Given the description of an element on the screen output the (x, y) to click on. 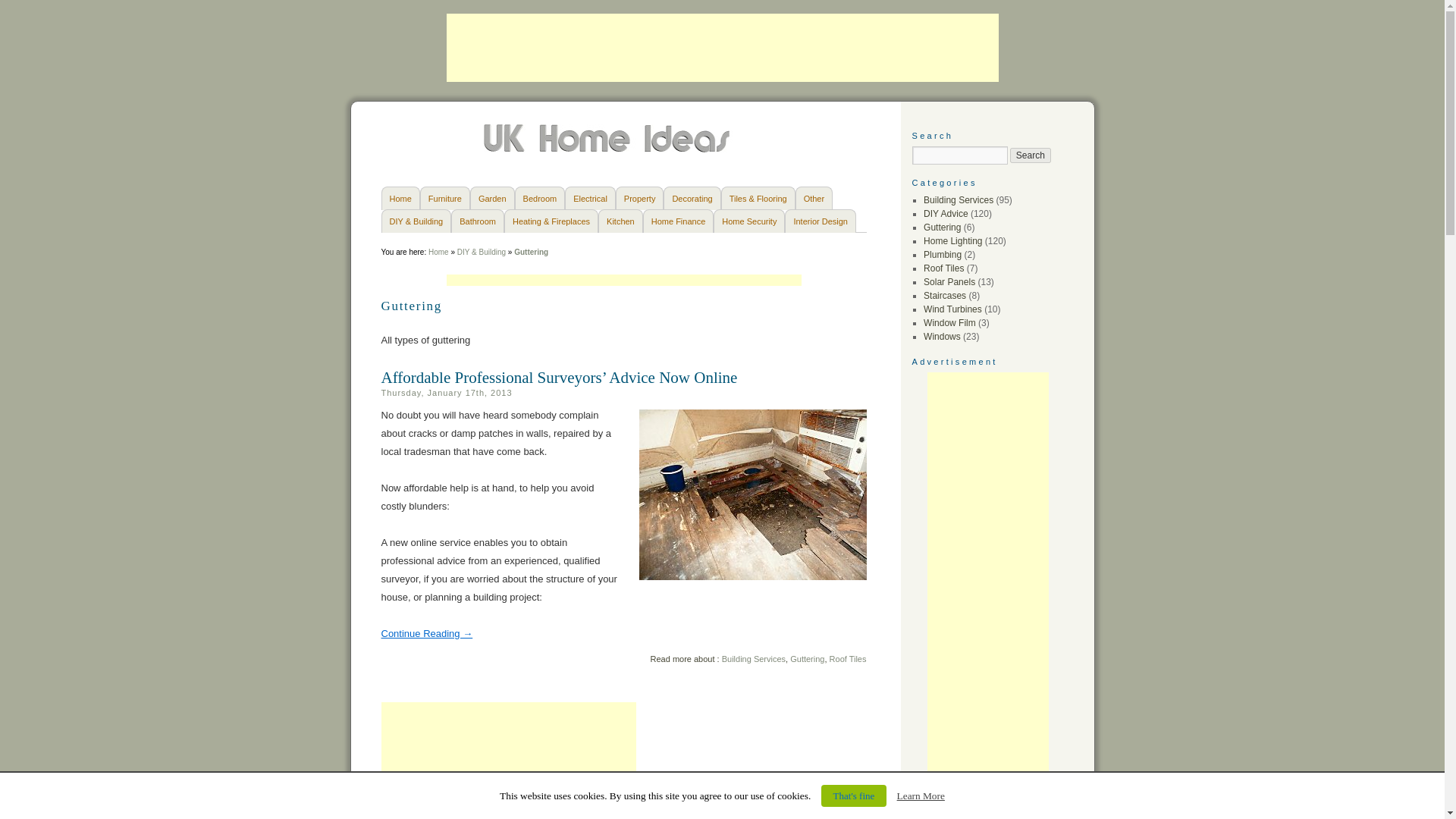
Home Security (748, 220)
Bedroom (540, 197)
Advertisement (507, 760)
Roof Tiles (847, 658)
Kitchen (620, 220)
Home (399, 197)
UK Home Ideas (608, 149)
Collapsed Floor From A Leaking Pipe (752, 494)
Decorating (691, 197)
Bathroom (477, 220)
